Given the description of an element on the screen output the (x, y) to click on. 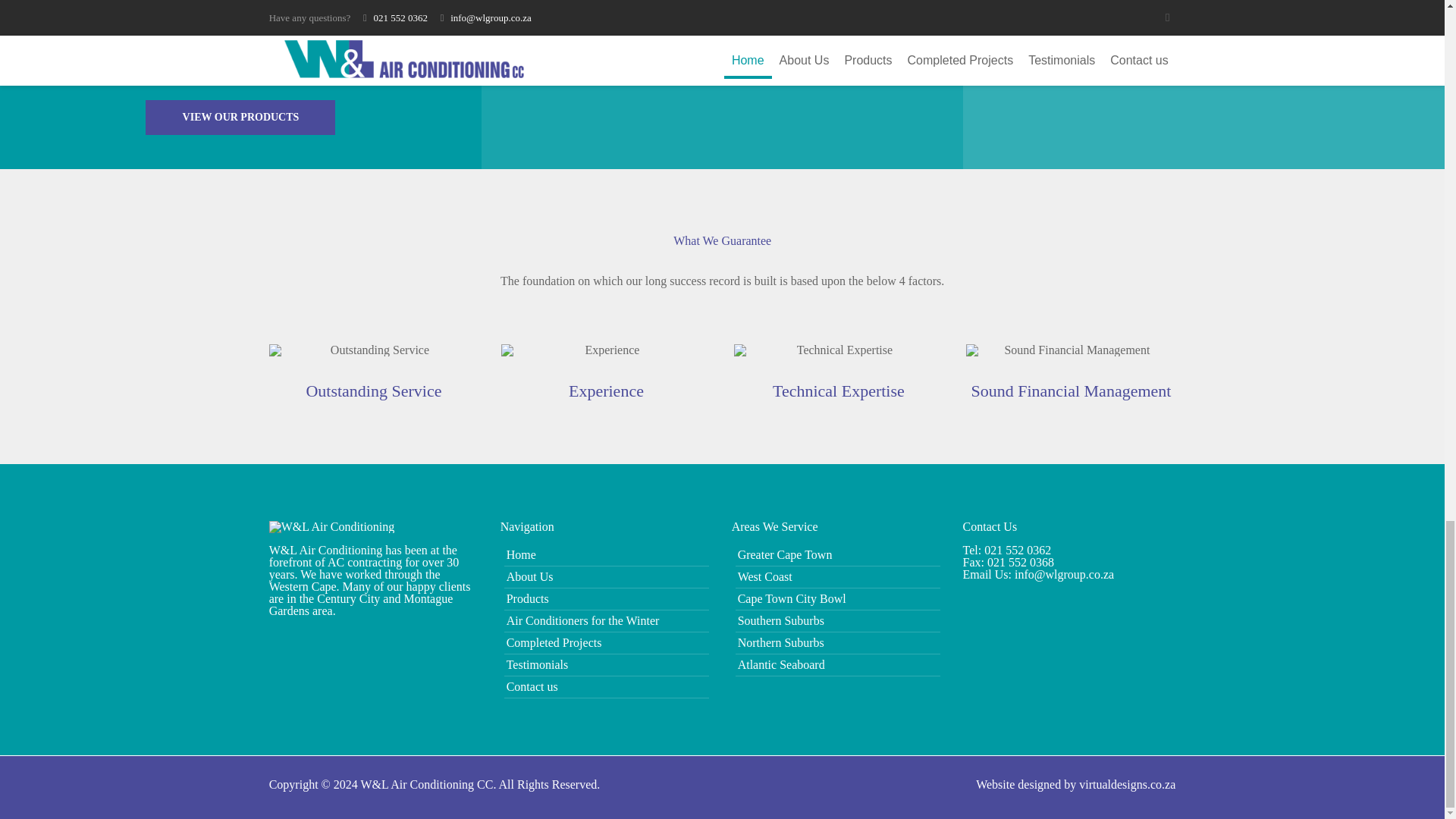
Southern Suburbs (837, 620)
Cape Town City Bowl (837, 598)
Atlantic Seaboard (837, 664)
Contact us (606, 686)
West Coast (837, 577)
Home (606, 554)
Website designed by virtualdesigns.co.za (1074, 784)
VIEW OUR PRODUCTS (239, 117)
Northern Suburbs (837, 642)
About Us (606, 577)
